Given the description of an element on the screen output the (x, y) to click on. 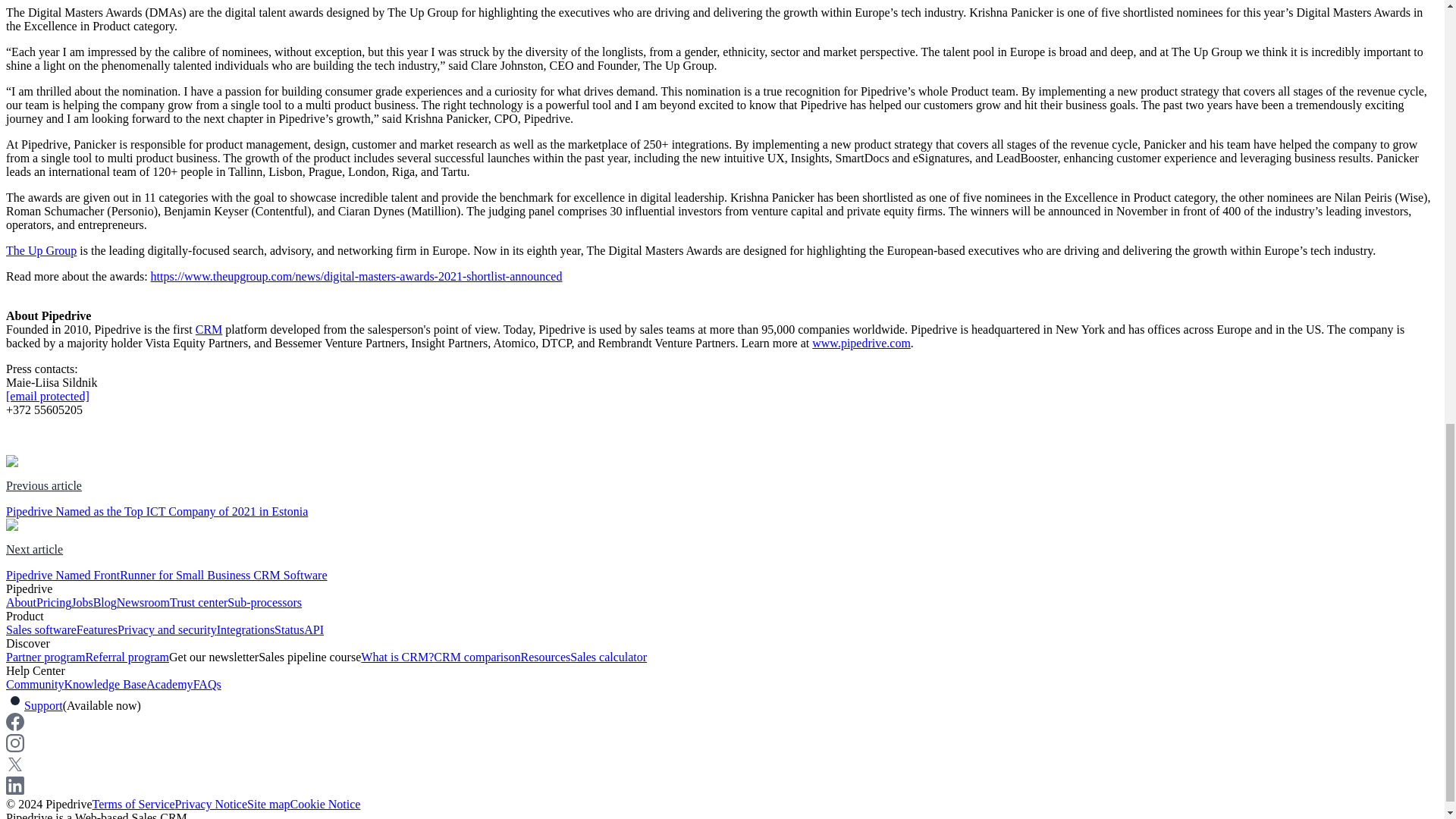
Blog (104, 602)
Privacy and security (166, 629)
About (20, 602)
Features (97, 629)
CRM (208, 328)
Jobs (82, 602)
Newsroom (143, 602)
The Up Group (41, 250)
www.pipedrive.com (861, 342)
Sales software (41, 629)
Trust center (198, 602)
Pricing (53, 602)
Sub-processors (264, 602)
